Given the description of an element on the screen output the (x, y) to click on. 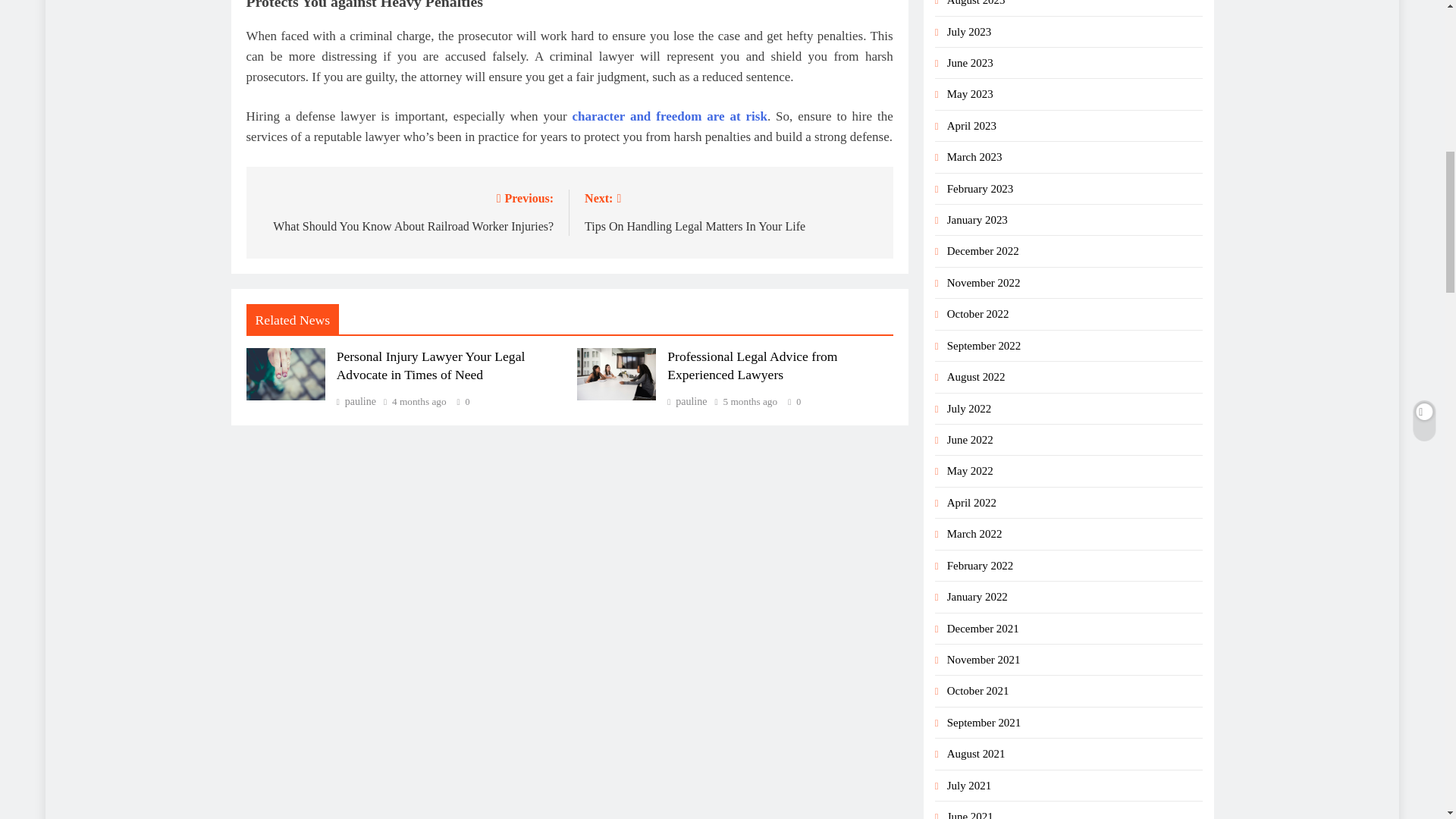
Professional Legal Advice from Experienced Lawyers (616, 374)
Personal Injury Lawyer Your Legal Advocate in Times of Need (285, 374)
